Given the description of an element on the screen output the (x, y) to click on. 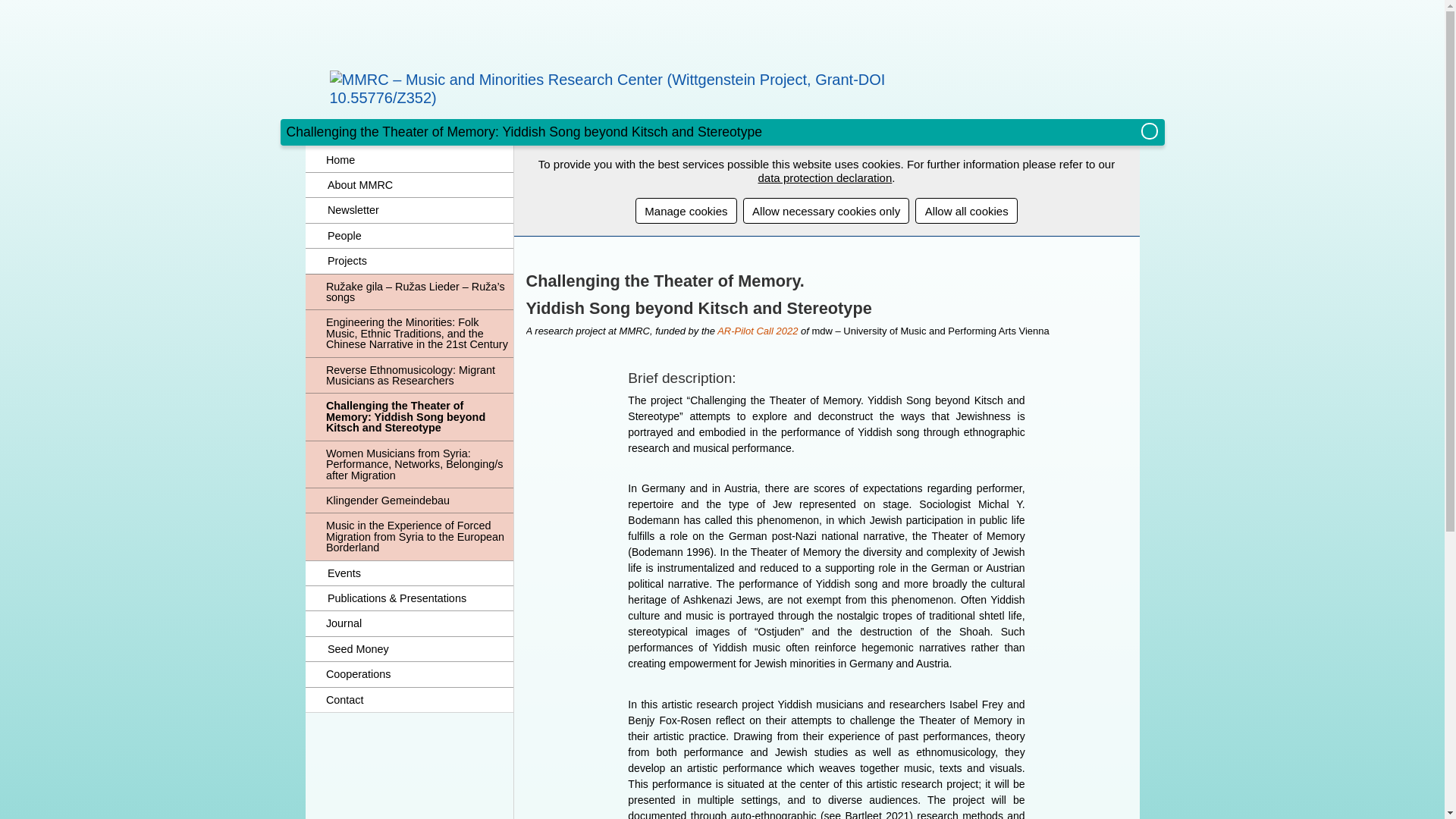
Search (1120, 131)
Open page "About MMRC" (419, 184)
YouTube (974, 96)
Open page "Home" (408, 159)
Projects (419, 260)
Open page "Newsletter" (419, 209)
Twitter (943, 96)
Auf deutschsprachige Seite wechseln (1149, 131)
Facebook (911, 96)
Newsletter (419, 209)
Auf deutschsprachige Seite wechseln (1149, 131)
People (419, 235)
Open page "People" (419, 235)
Reverse Ethnomusicology: Migrant Musicians as Researchers (408, 375)
